Given the description of an element on the screen output the (x, y) to click on. 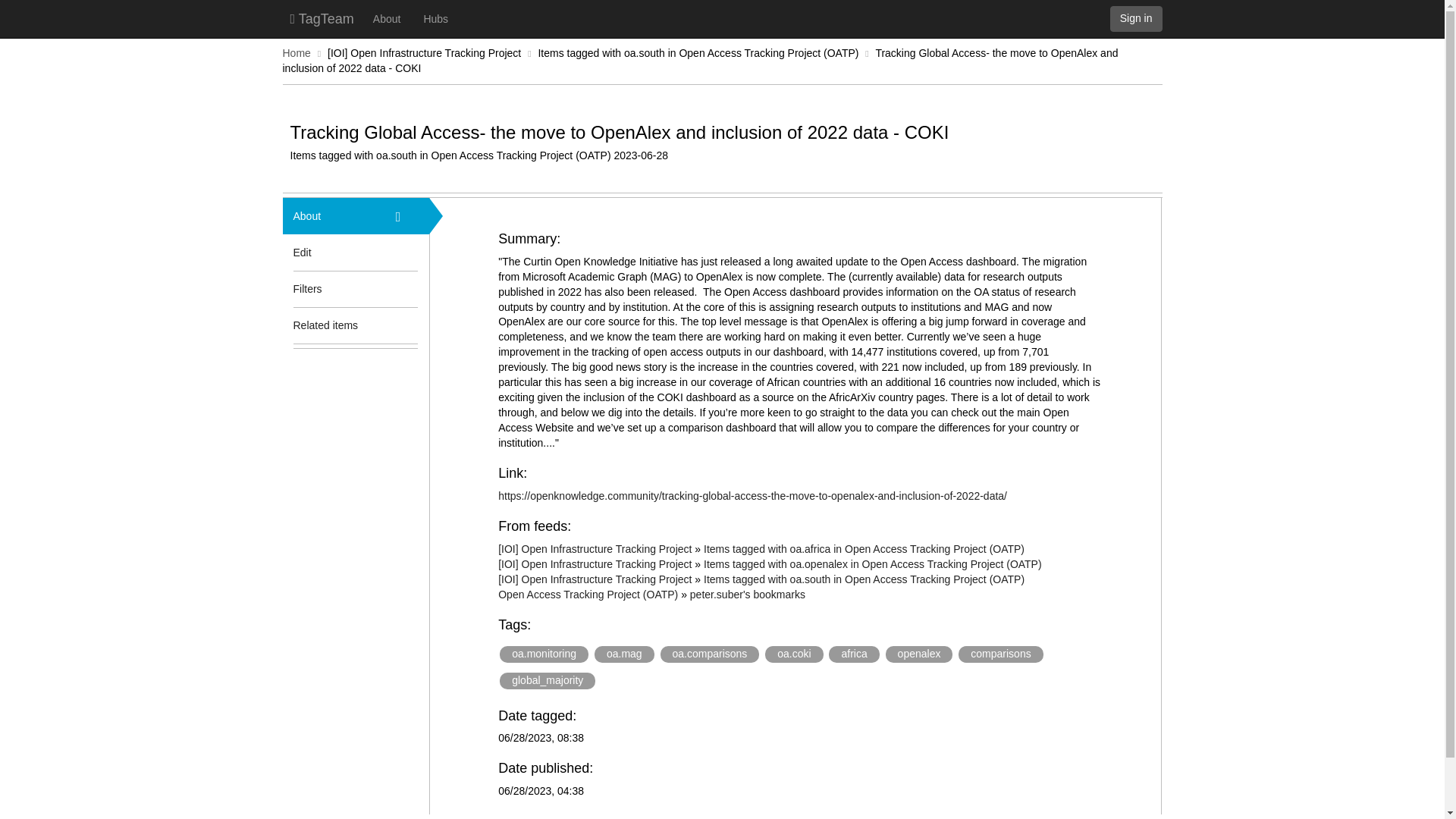
oa.monitoring (543, 654)
oa.mag (623, 654)
Hubs (436, 18)
peter.suber's bookmarks (747, 594)
TagTeam (321, 18)
oa.coki (793, 654)
Item-level tag filters (407, 289)
oa.comparisons (710, 654)
Edit (301, 252)
